Given the description of an element on the screen output the (x, y) to click on. 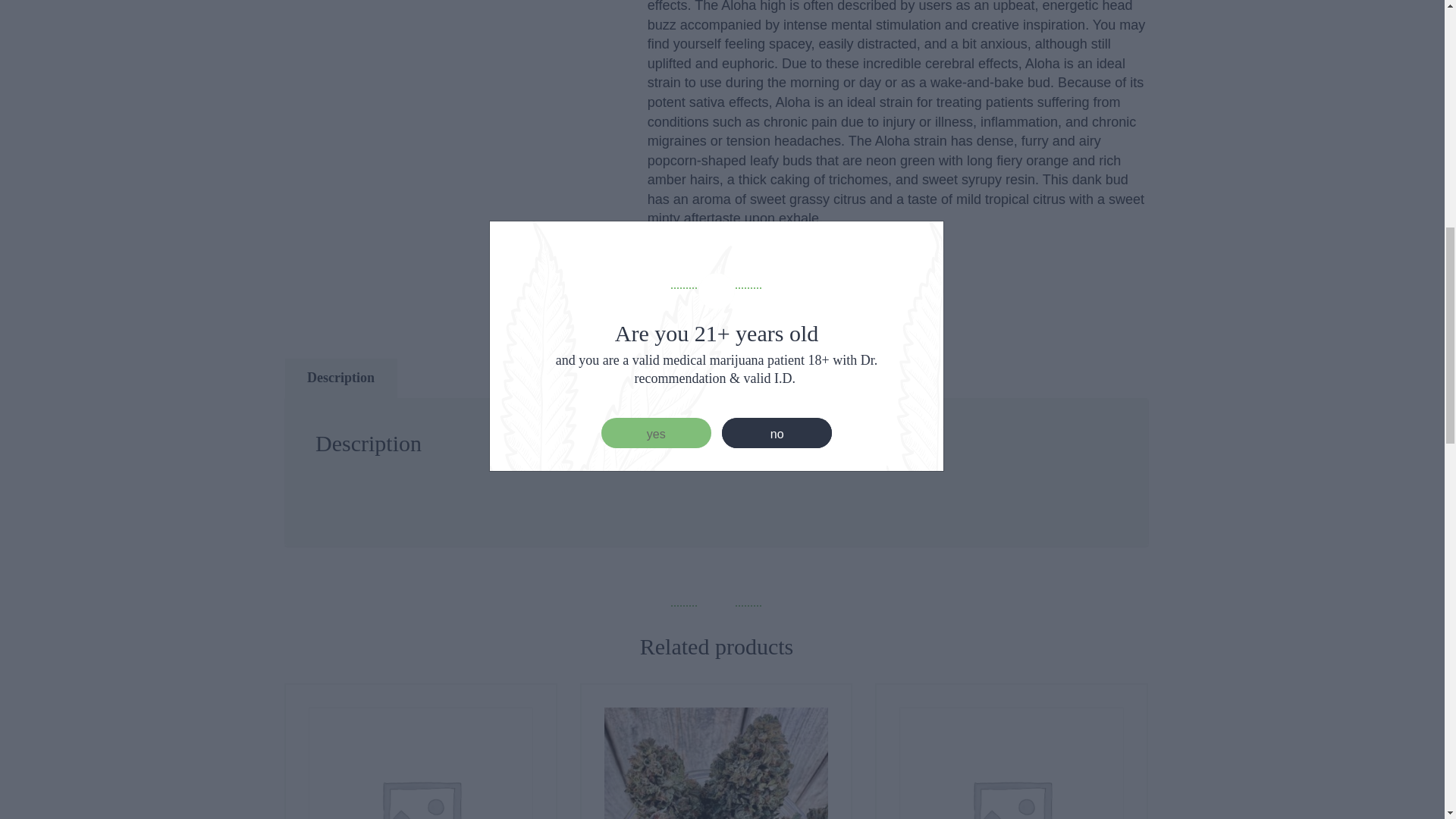
Description (340, 377)
Flower (742, 308)
Sativa (792, 308)
